Given the description of an element on the screen output the (x, y) to click on. 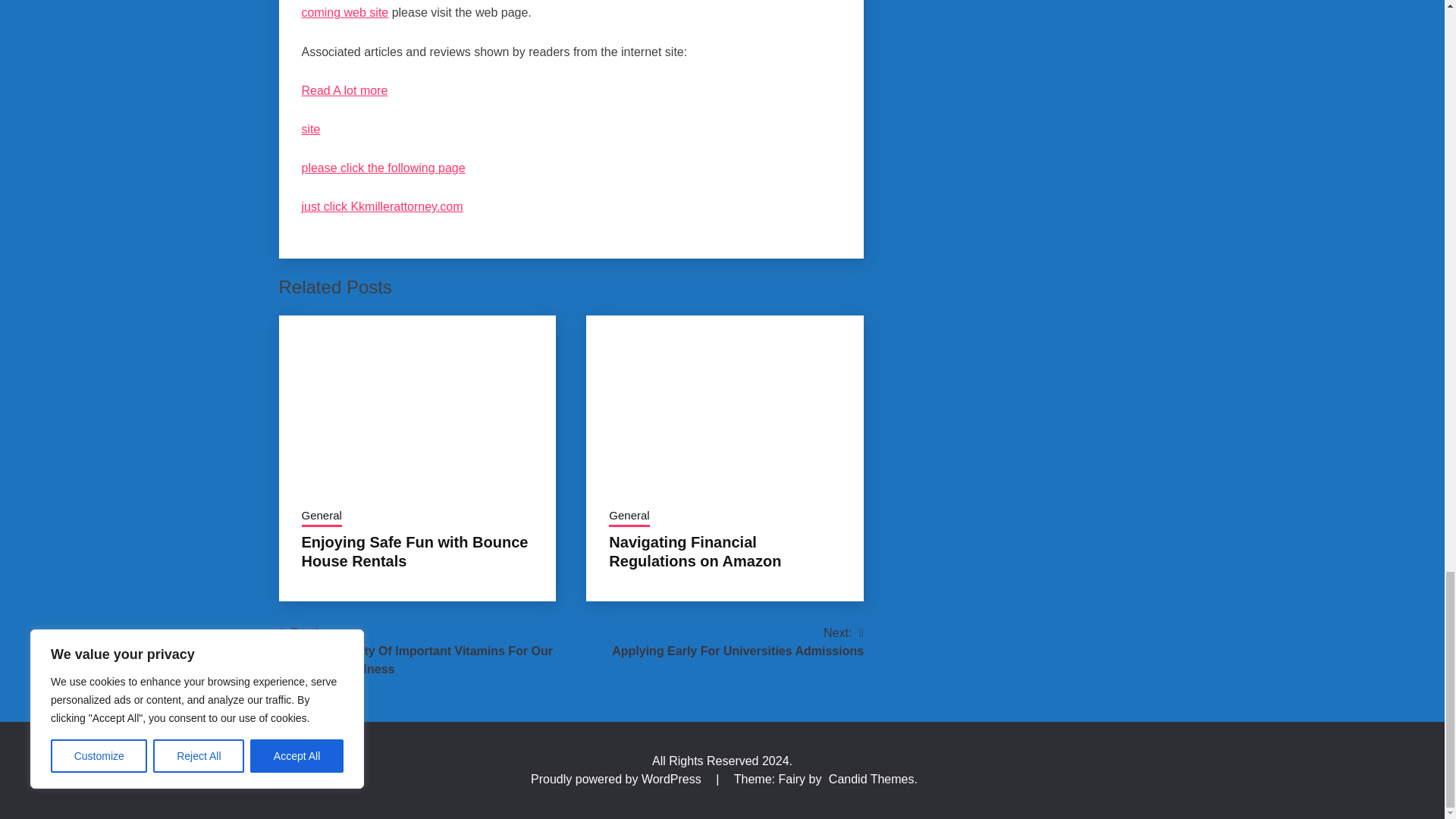
please click the following page (383, 167)
General (321, 516)
click through the up coming web site (557, 9)
just click Kkmillerattorney.com (382, 205)
Read A lot more (344, 90)
site (310, 128)
